Given the description of an element on the screen output the (x, y) to click on. 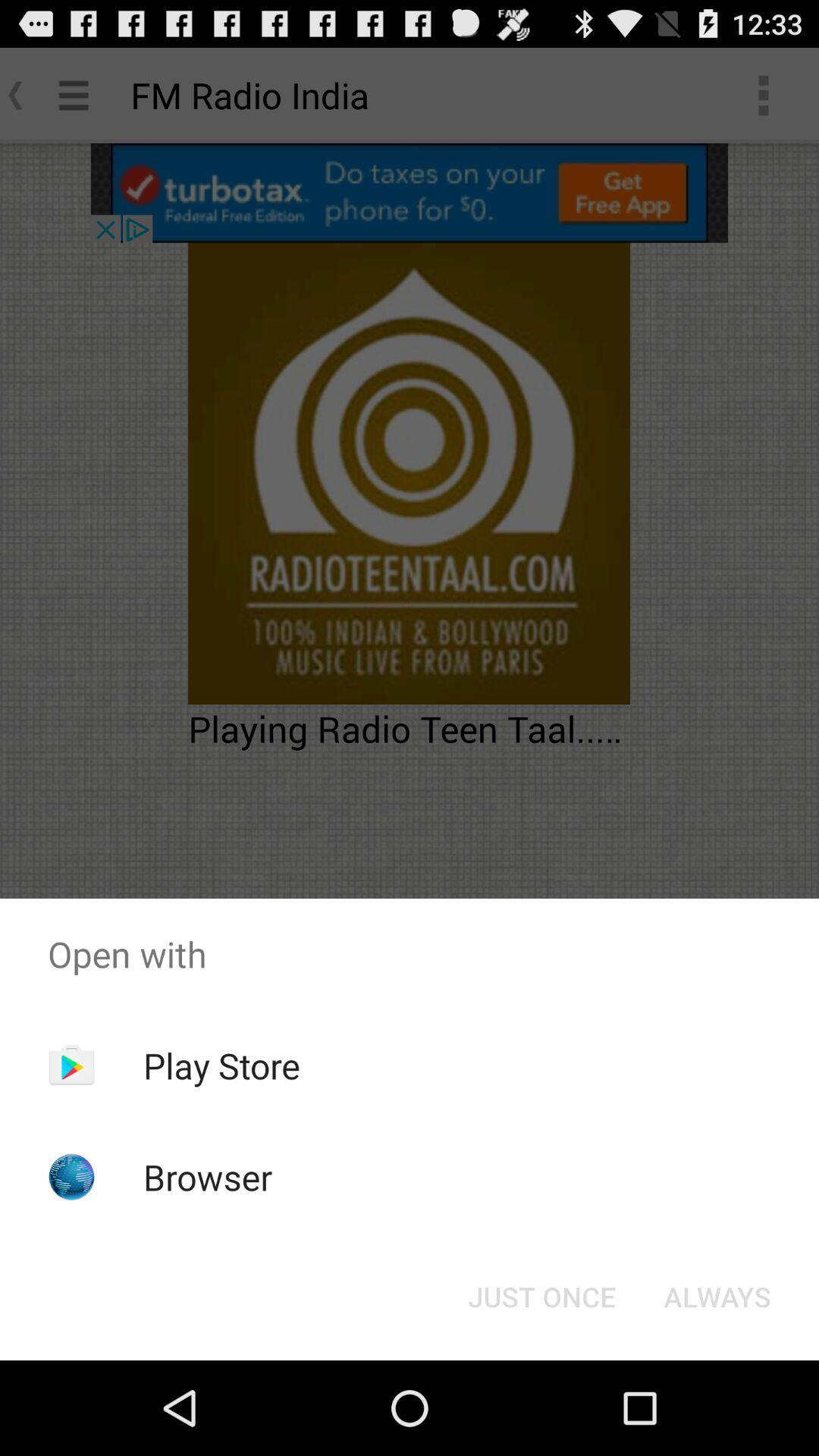
tap always item (717, 1296)
